Given the description of an element on the screen output the (x, y) to click on. 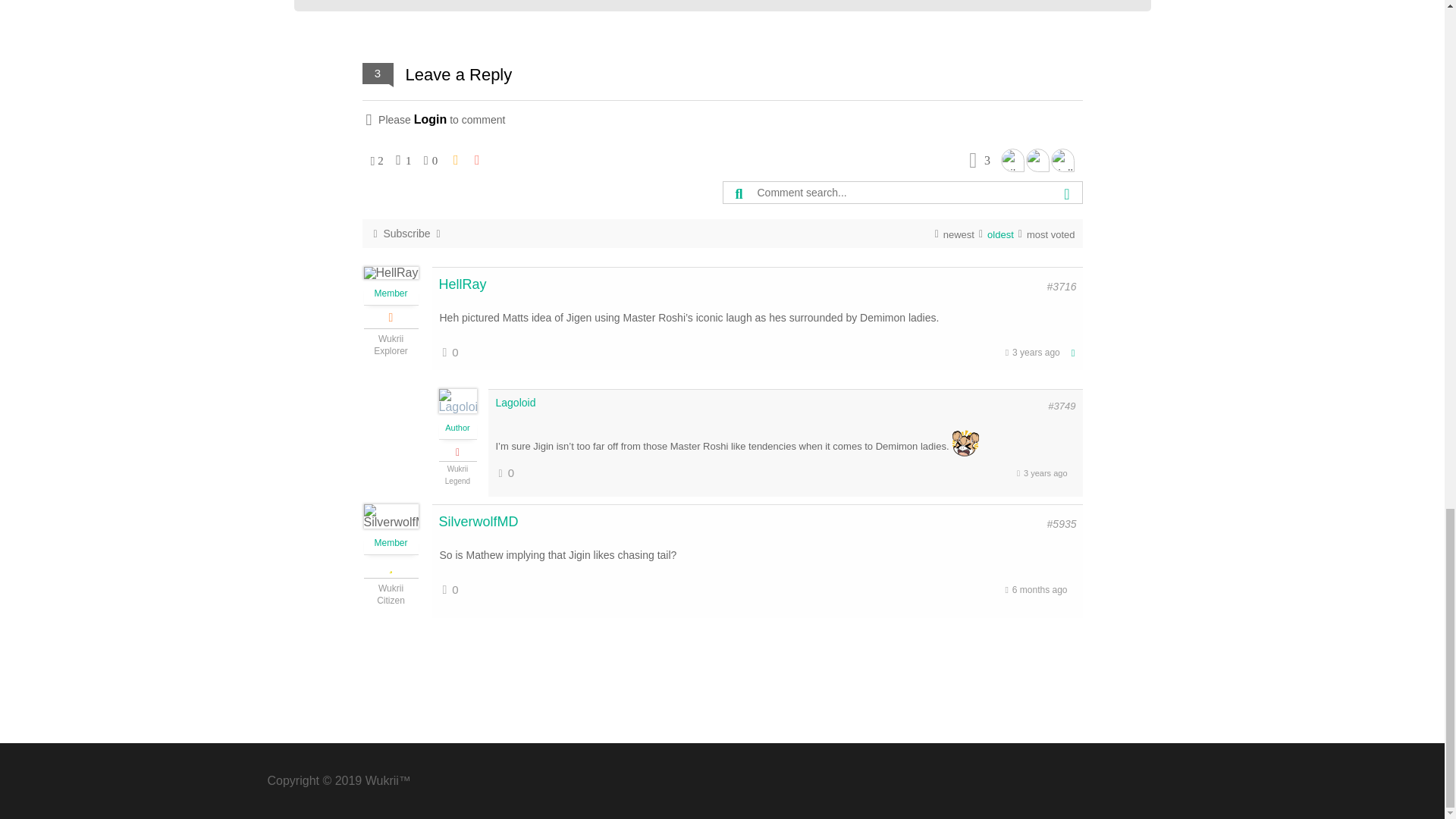
HellRay (1062, 159)
Lagoloid (515, 402)
Lagoloid (1036, 159)
SilverwolfMD (1013, 159)
Login (429, 119)
Hide Replies (1071, 352)
